Given the description of an element on the screen output the (x, y) to click on. 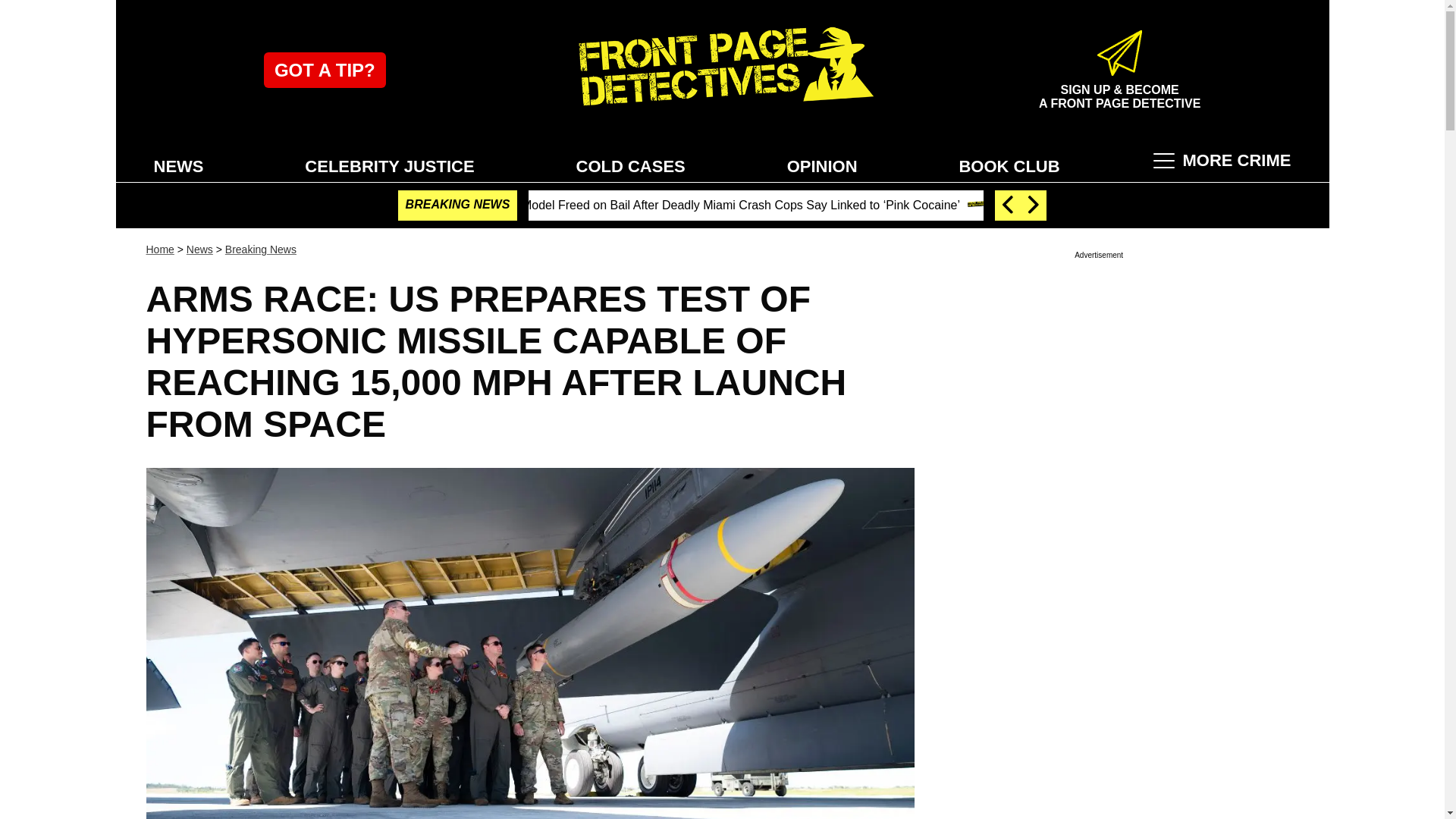
Sign up for your daily dose of dope. (1119, 89)
Front Page Detective (721, 70)
BOOK CLUB (1008, 164)
NEWS (178, 164)
OPINION (821, 164)
Home (159, 249)
GOT A TIP? (324, 69)
CELEBRITY JUSTICE (389, 164)
News (199, 249)
